Given the description of an element on the screen output the (x, y) to click on. 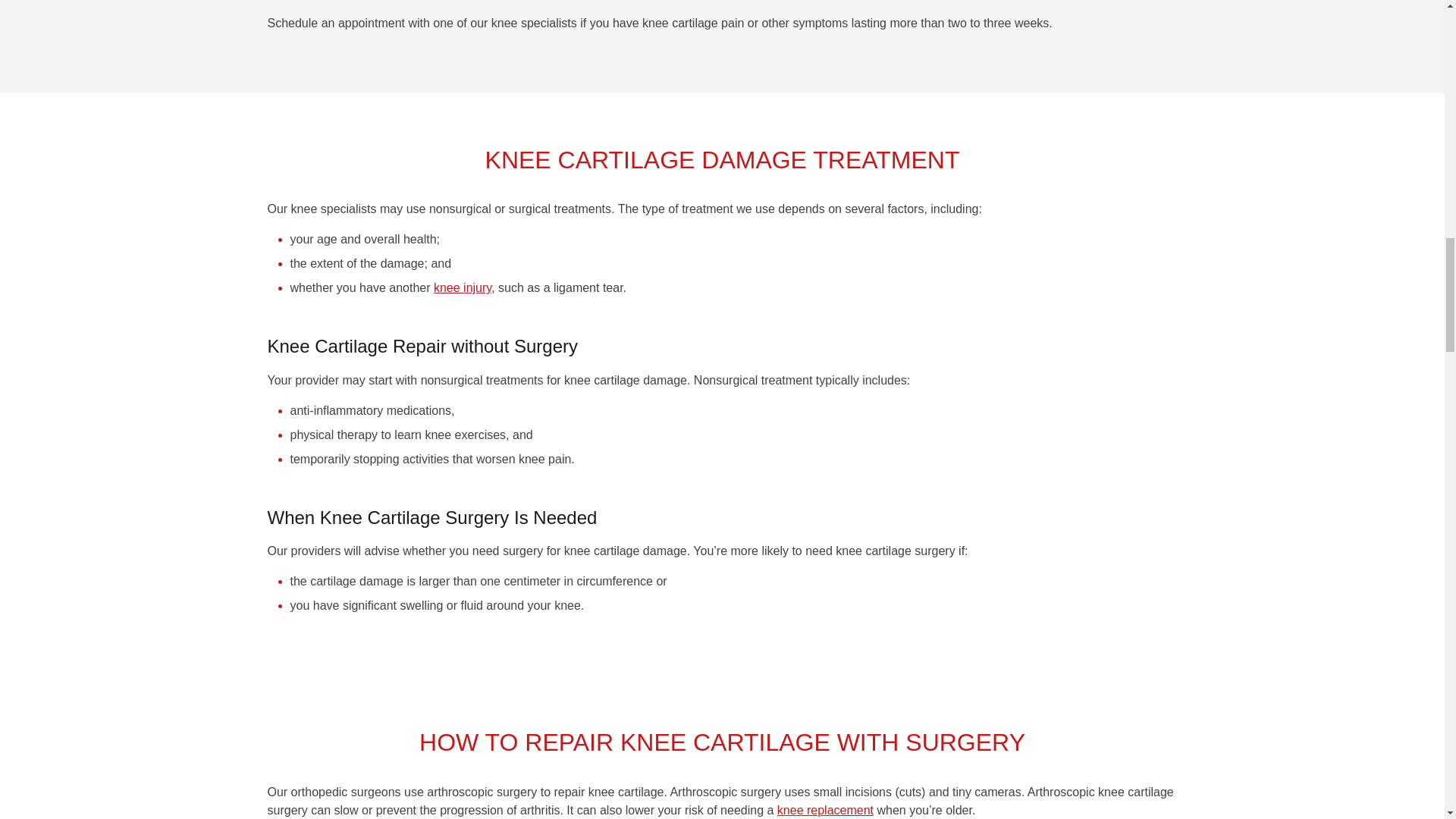
Kneecap Injuries (462, 287)
knee injury (462, 287)
knee replacement (825, 809)
